Given the description of an element on the screen output the (x, y) to click on. 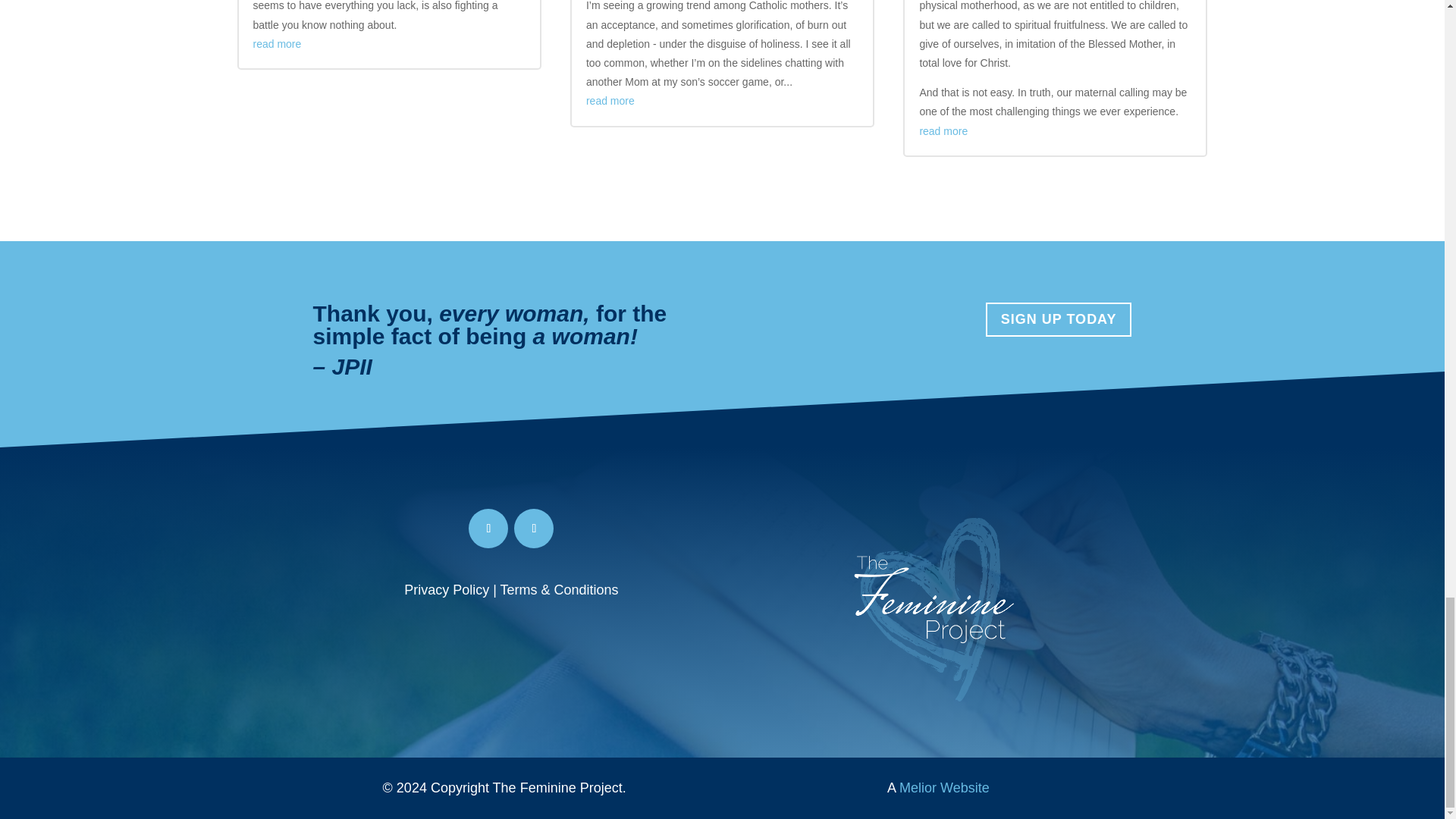
Melior Website (944, 787)
tfp-logos-heart-white (933, 607)
Follow on Instagram (533, 527)
read more (277, 43)
read more (943, 131)
read more (610, 101)
Privacy Policy (446, 589)
SIGN UP TODAY (1058, 319)
Follow on Facebook (488, 527)
